Given the description of an element on the screen output the (x, y) to click on. 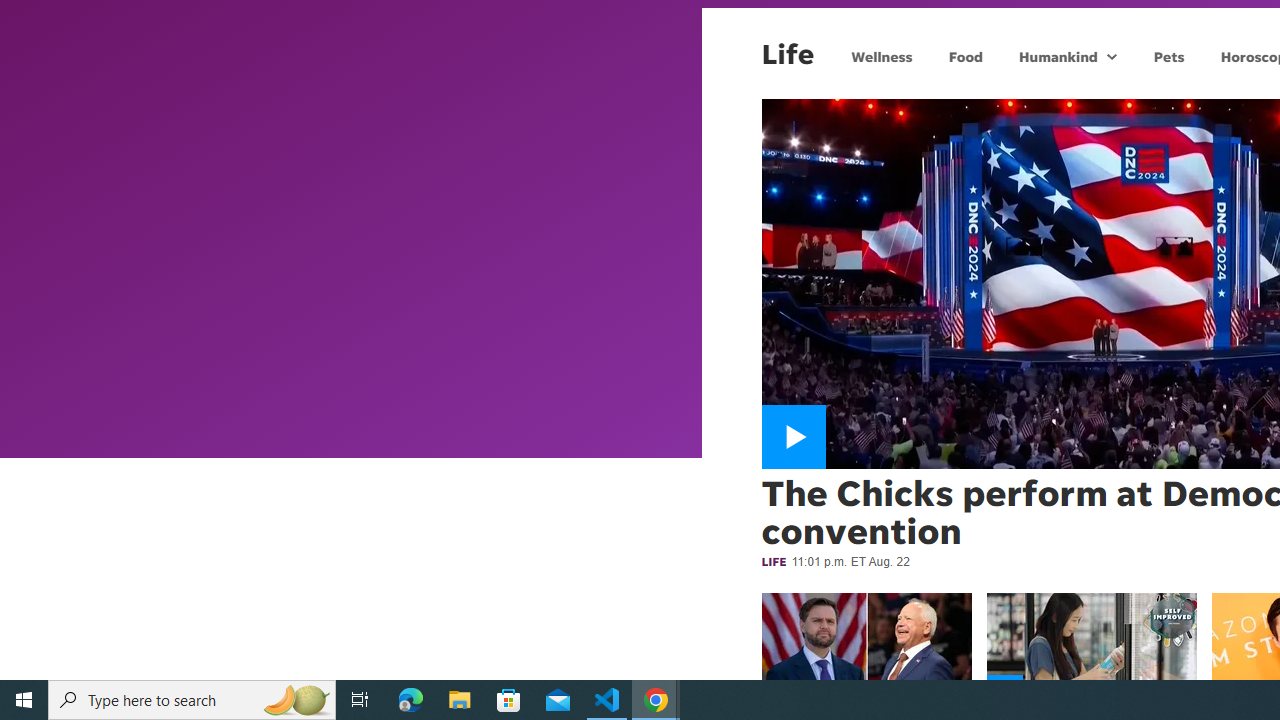
Wellness (881, 56)
More Humankind navigation (1111, 56)
Pets (1168, 56)
Humankind (1055, 56)
Food (965, 56)
